Given the description of an element on the screen output the (x, y) to click on. 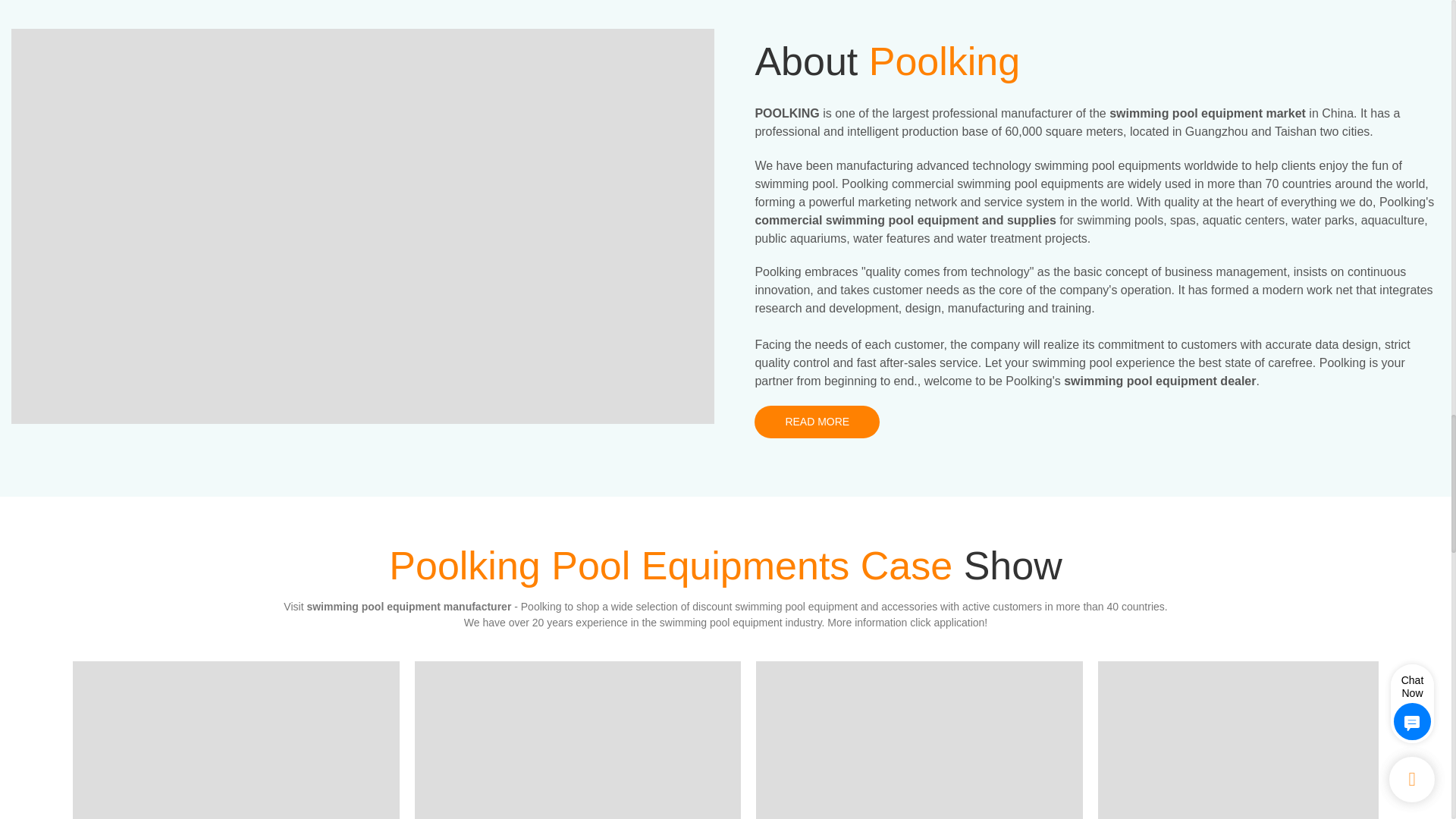
Poolking Commmercial Sand Filters in Atlantis Sanya (919, 739)
